Given the description of an element on the screen output the (x, y) to click on. 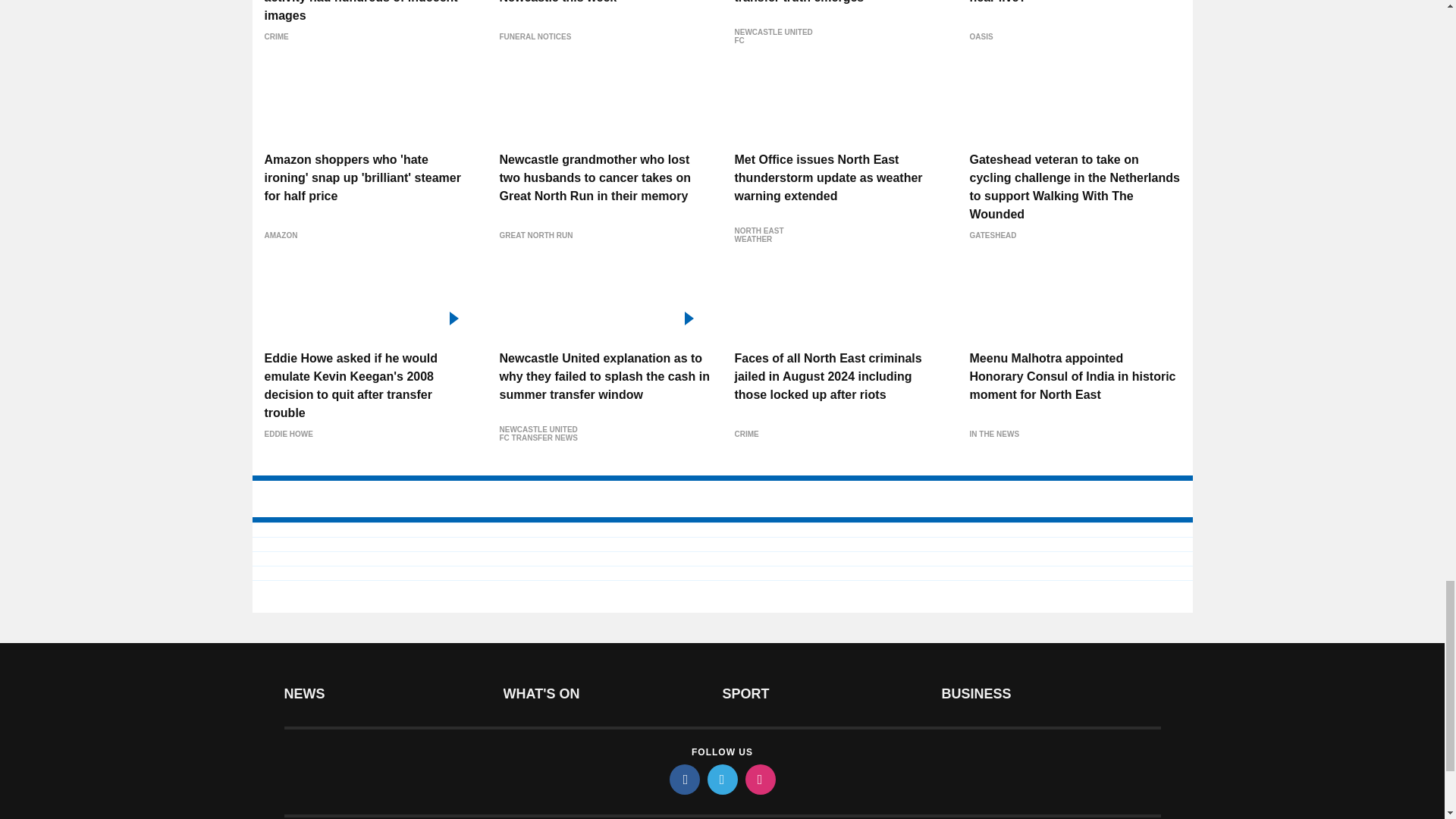
instagram (759, 779)
twitter (721, 779)
facebook (683, 779)
